Given the description of an element on the screen output the (x, y) to click on. 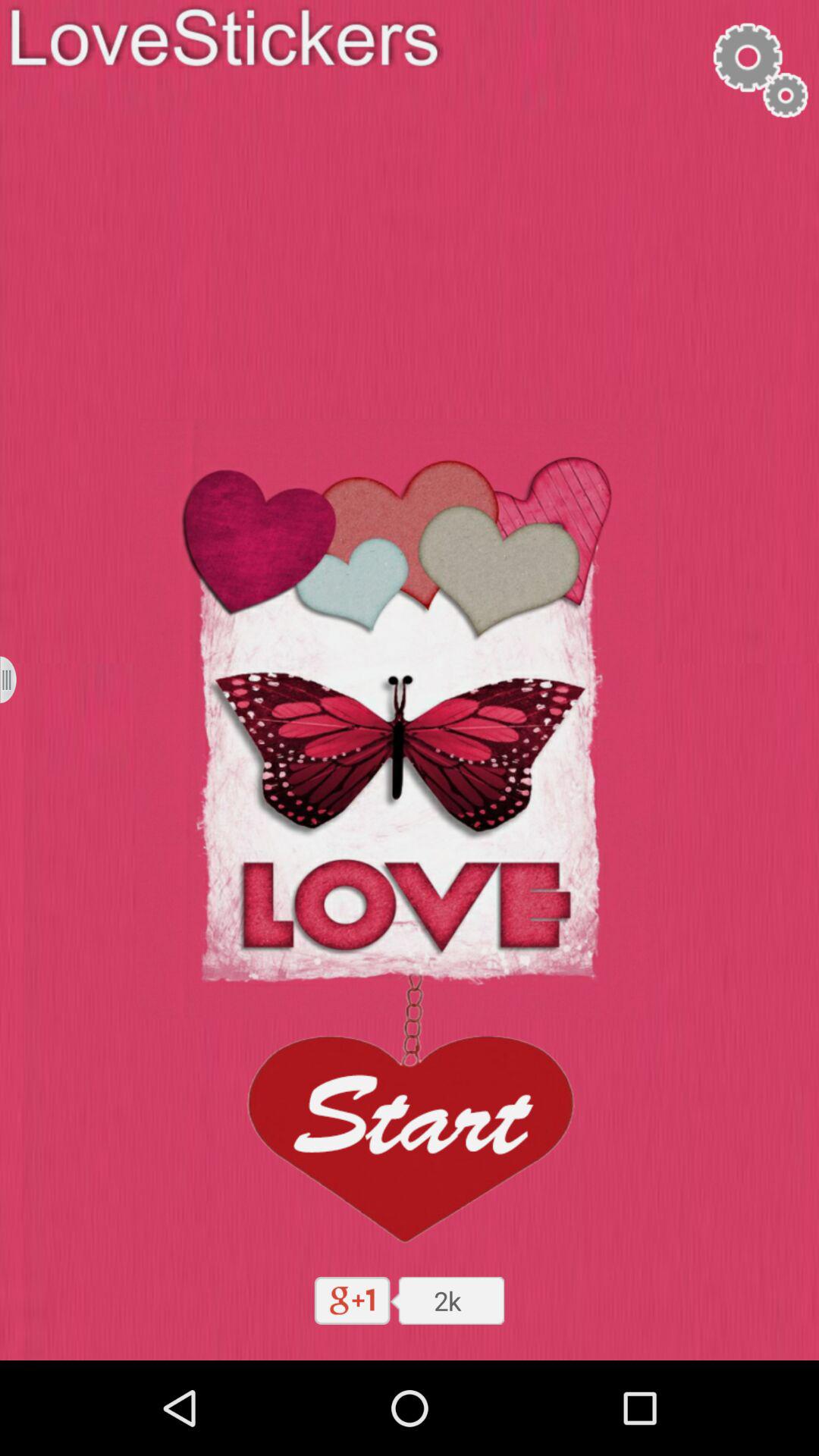
settings symbol (759, 69)
